Given the description of an element on the screen output the (x, y) to click on. 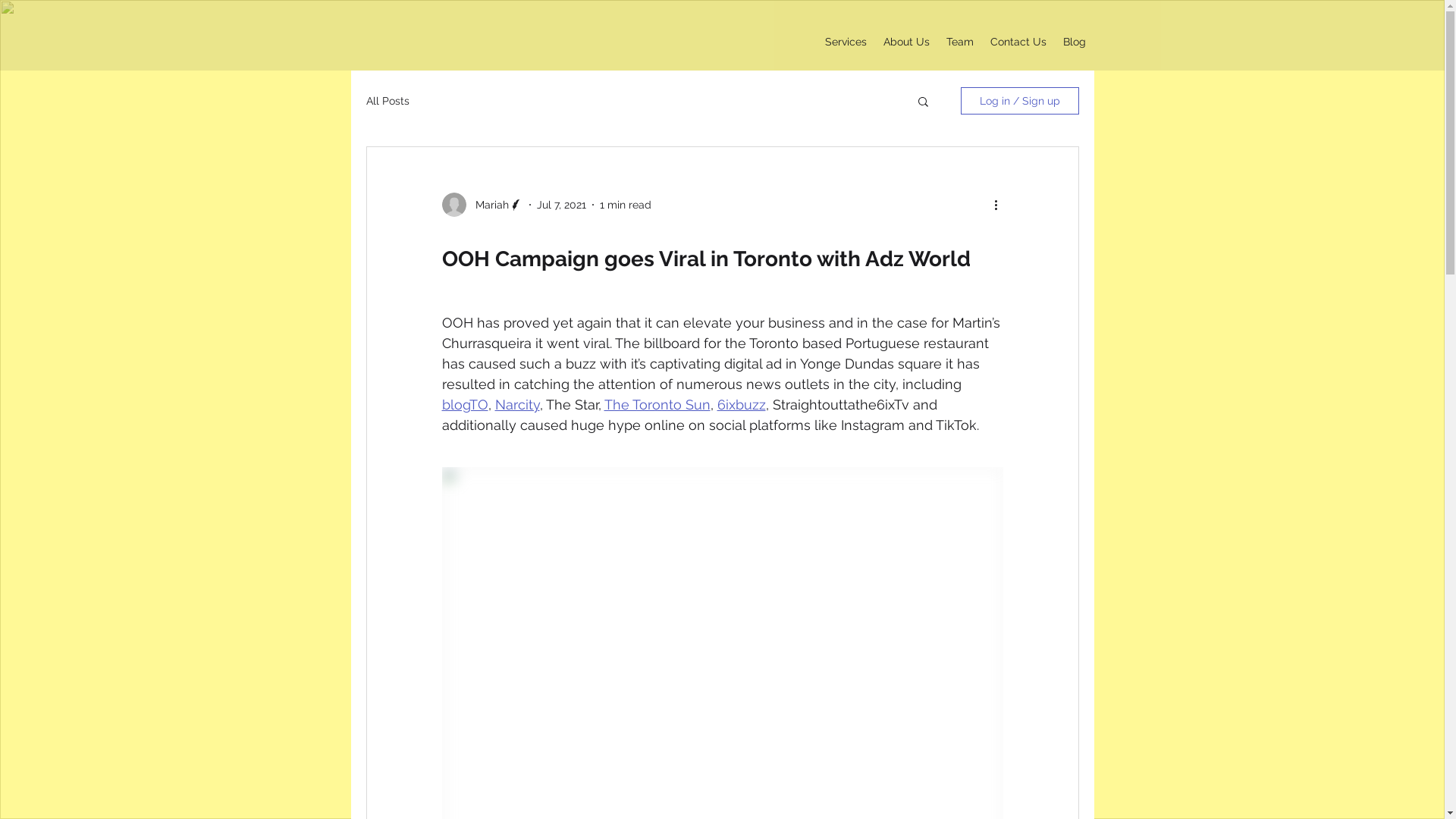
Blog Element type: text (1073, 41)
All Posts Element type: text (386, 100)
Log in / Sign up Element type: text (1019, 100)
The Toronto Sun Element type: text (656, 404)
6ixbuzz Element type: text (741, 404)
blogTO Element type: text (464, 404)
Team Element type: text (959, 41)
Contact Us Element type: text (1017, 41)
Narcity Element type: text (516, 404)
Services Element type: text (844, 41)
About Us Element type: text (906, 41)
